Given the description of an element on the screen output the (x, y) to click on. 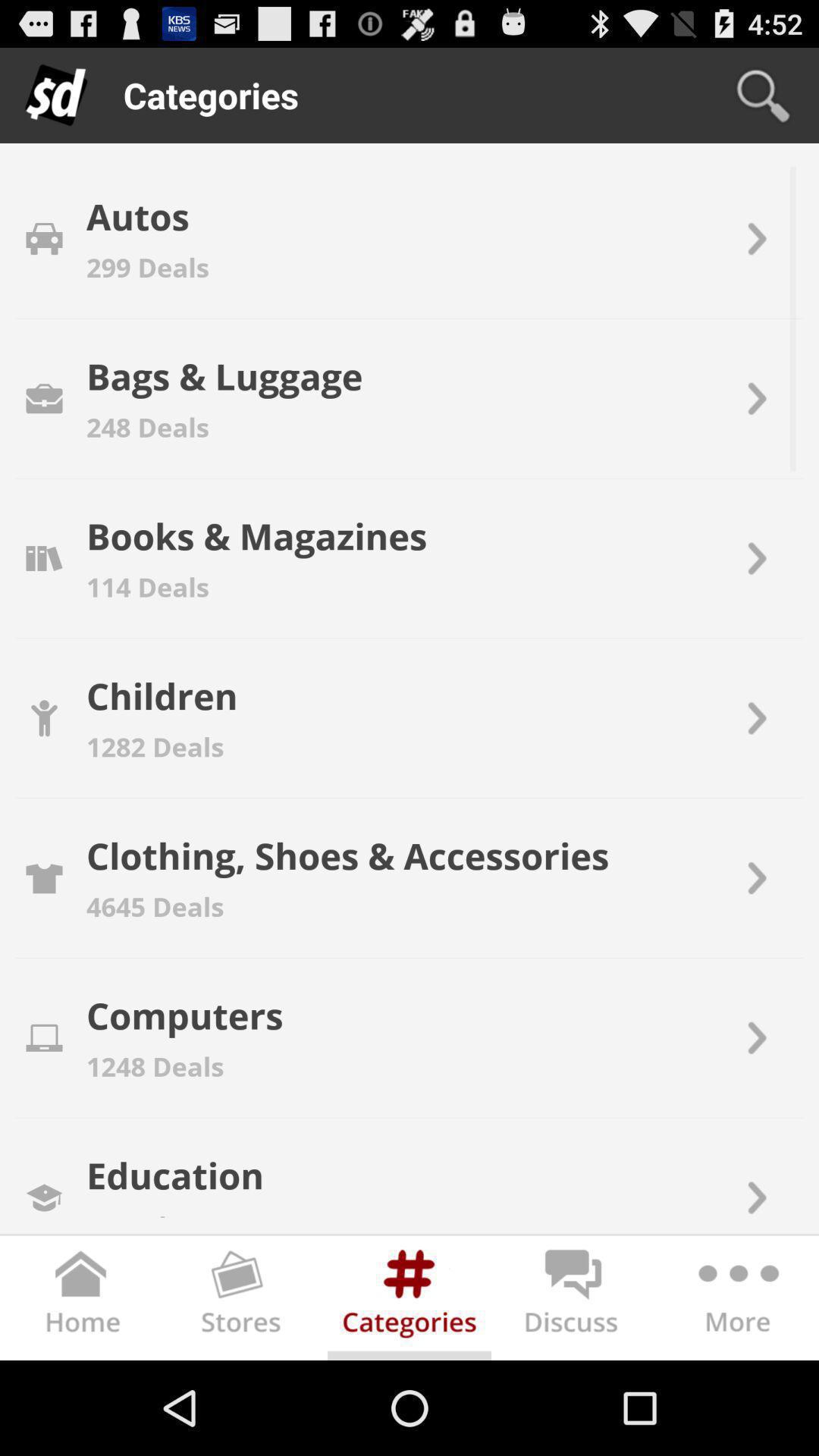
more options (736, 1300)
